Given the description of an element on the screen output the (x, y) to click on. 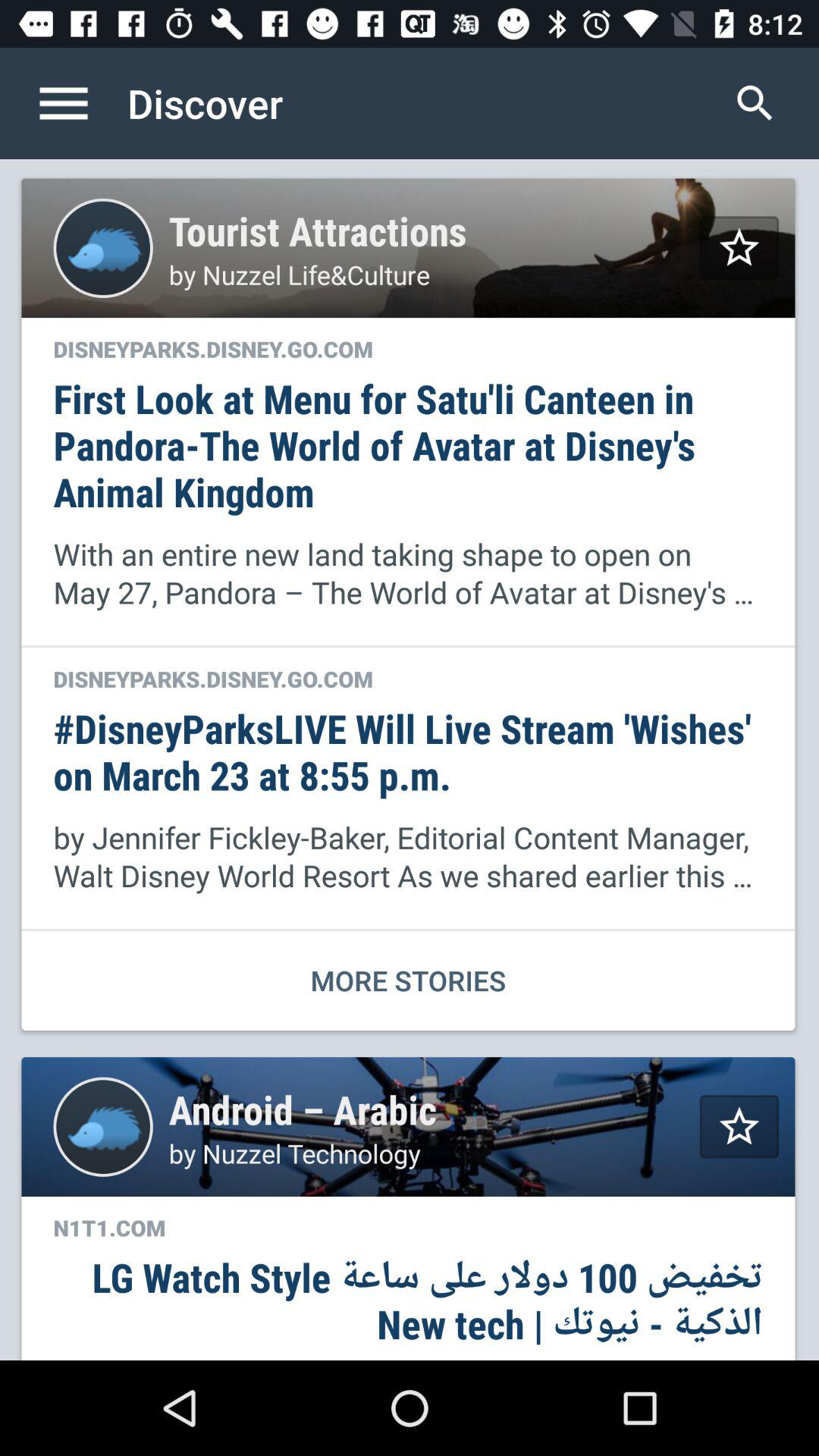
open app menu (79, 103)
